Given the description of an element on the screen output the (x, y) to click on. 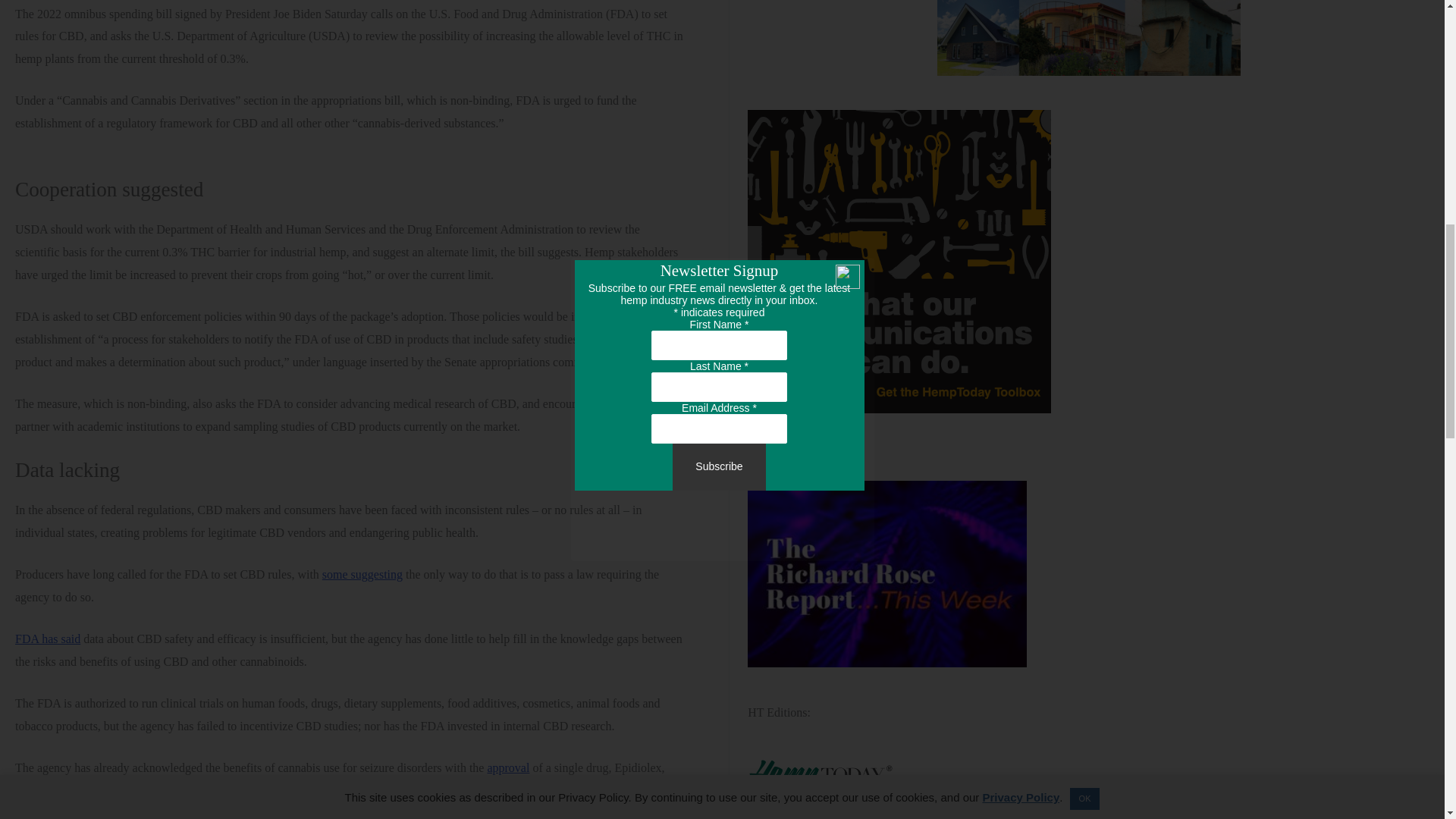
STEVE 50 BLDGS COVER400x440 (1088, 38)
